Given the description of an element on the screen output the (x, y) to click on. 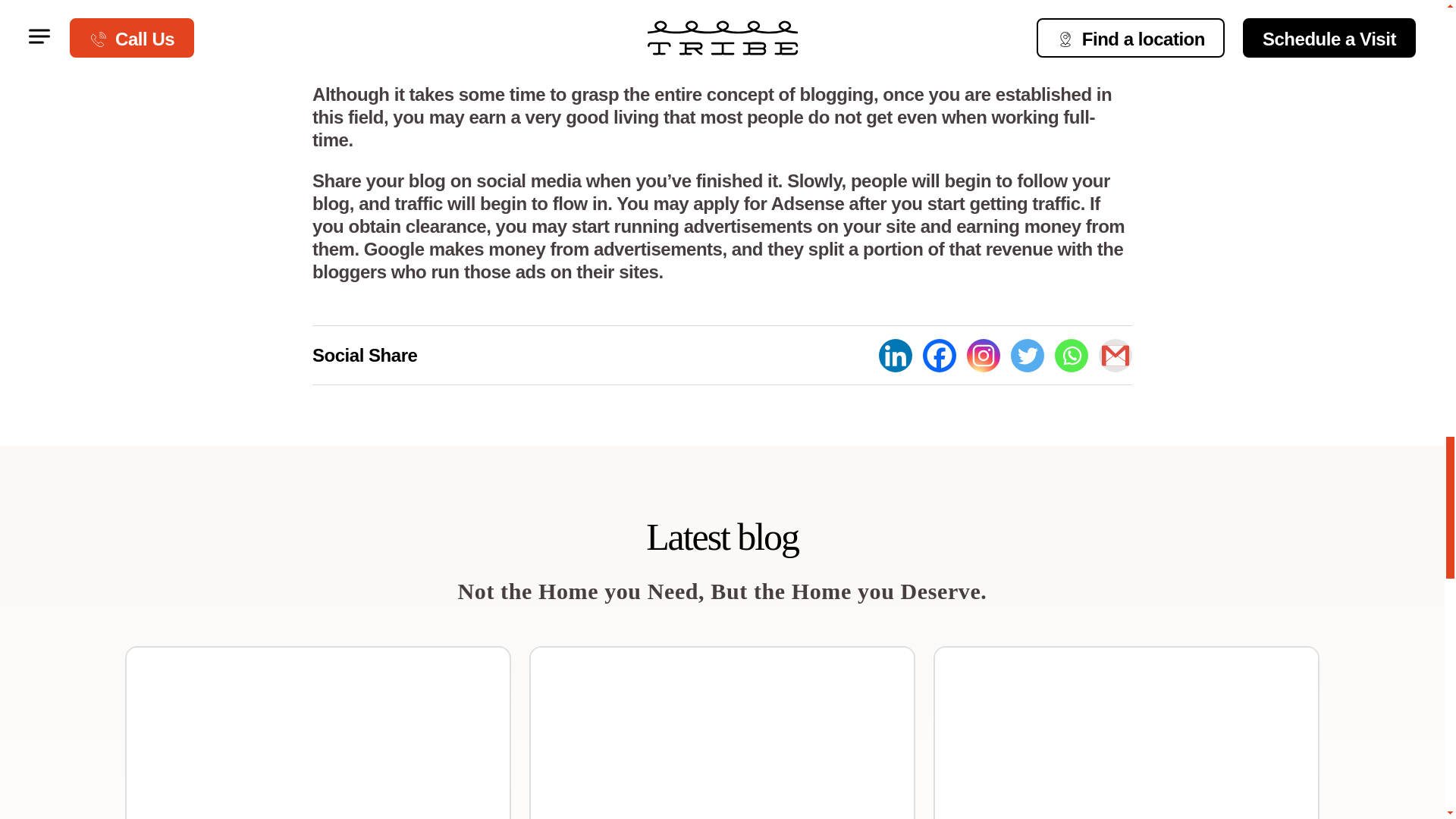
Twitter (1026, 355)
Instagram (983, 355)
Google Gmail (1115, 355)
Facebook (939, 355)
Linkedin (895, 355)
Whatsapp (1070, 355)
